Given the description of an element on the screen output the (x, y) to click on. 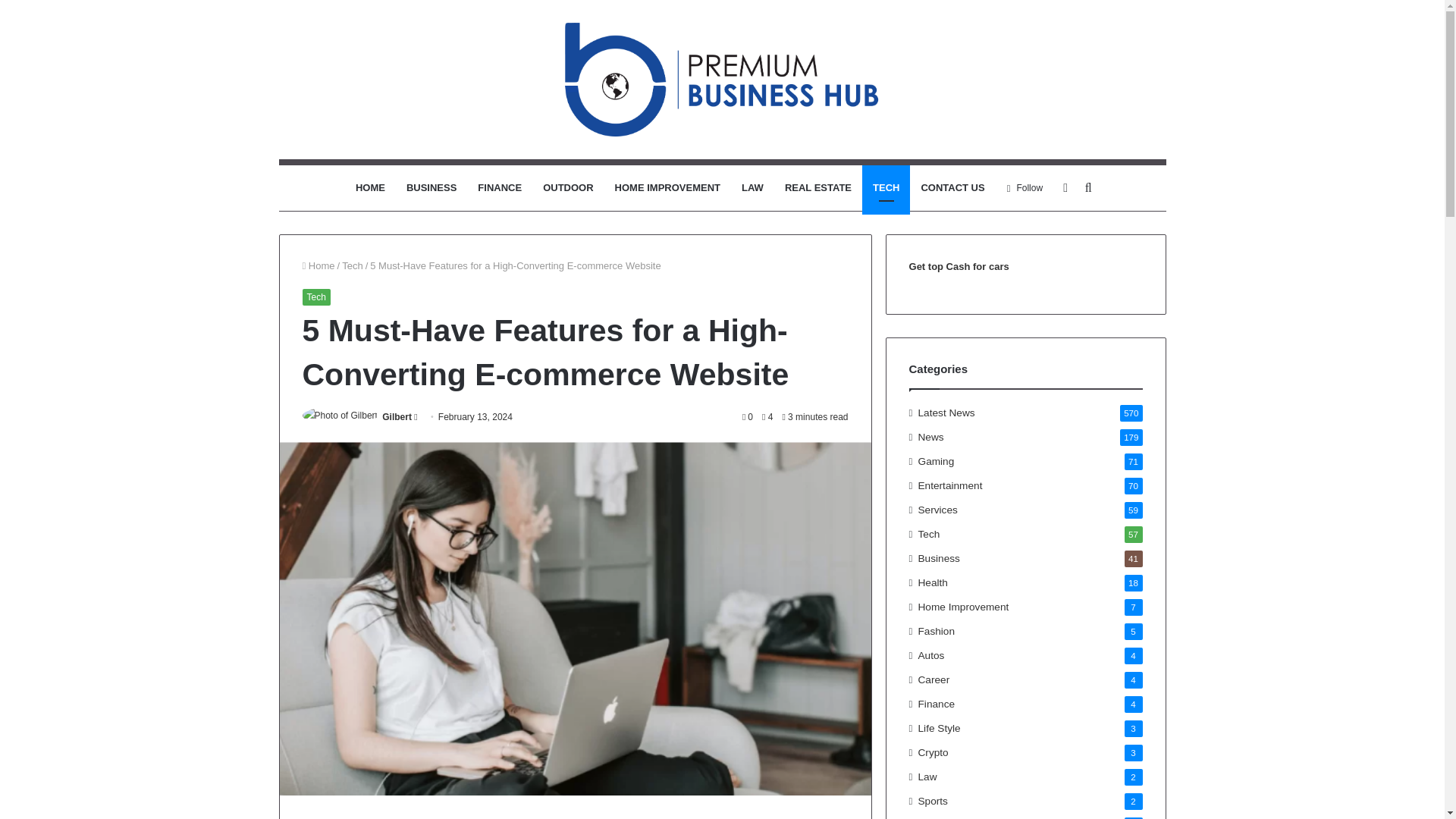
Premium Business Hub (721, 79)
HOME IMPROVEMENT (667, 187)
Home (317, 265)
FINANCE (499, 187)
CONTACT US (952, 187)
OUTDOOR (568, 187)
BUSINESS (431, 187)
Gilbert (396, 416)
Gilbert (396, 416)
Follow (1024, 187)
